Given the description of an element on the screen output the (x, y) to click on. 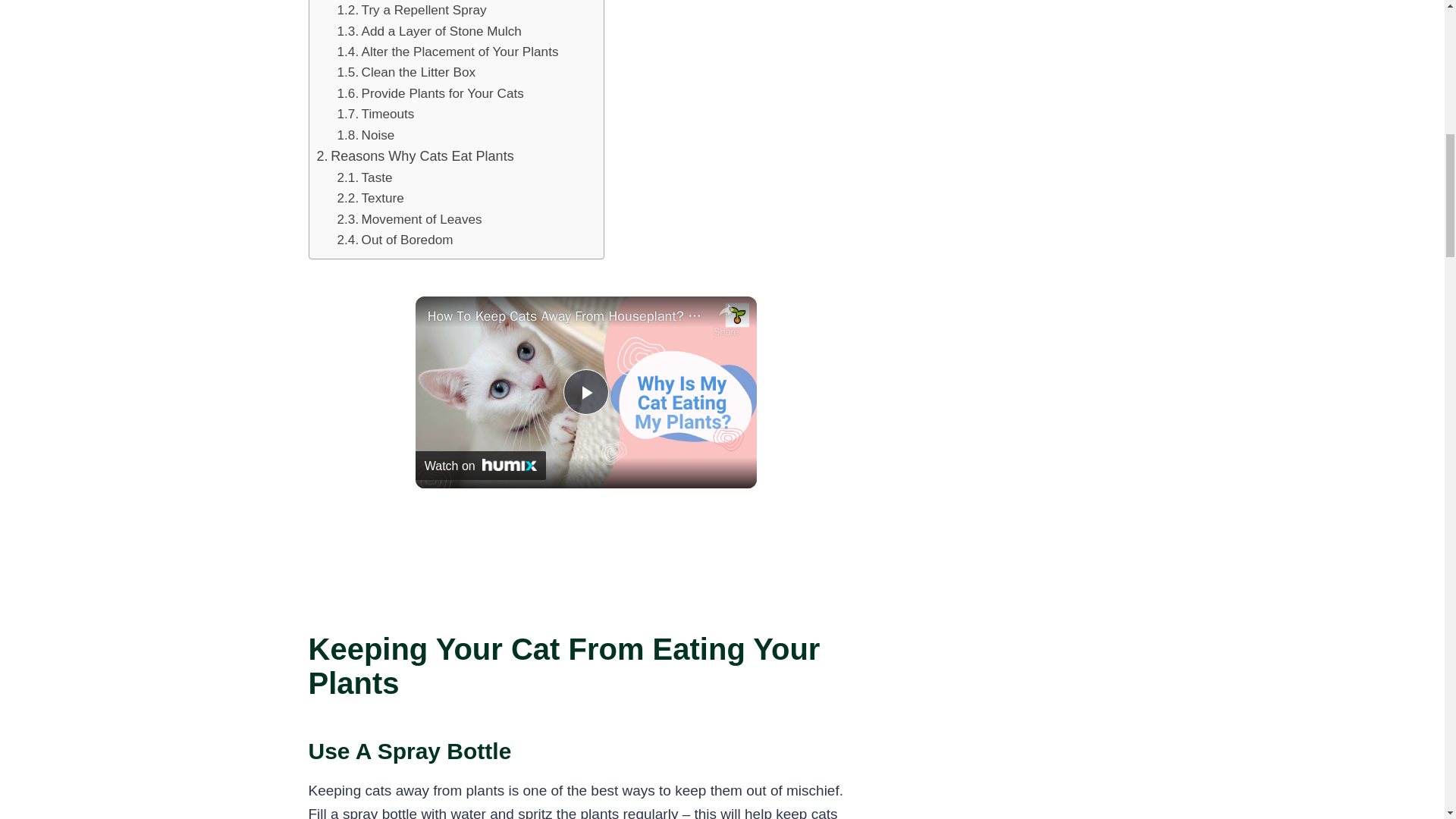
Timeouts (375, 114)
Try a Repellent Spray (411, 10)
Provide Plants for Your Cats (430, 93)
Try a Repellent Spray (411, 10)
Out of Boredom (394, 240)
Taste (365, 177)
Add a Layer of Stone Mulch (429, 31)
Clean the Litter Box (406, 72)
Clean the Litter Box (406, 72)
Alter the Placement of Your Plants (448, 51)
Movement of Leaves (409, 219)
Play Video (585, 391)
Noise (365, 135)
Add a Layer of Stone Mulch (429, 31)
Reasons Why Cats Eat Plants (415, 156)
